Given the description of an element on the screen output the (x, y) to click on. 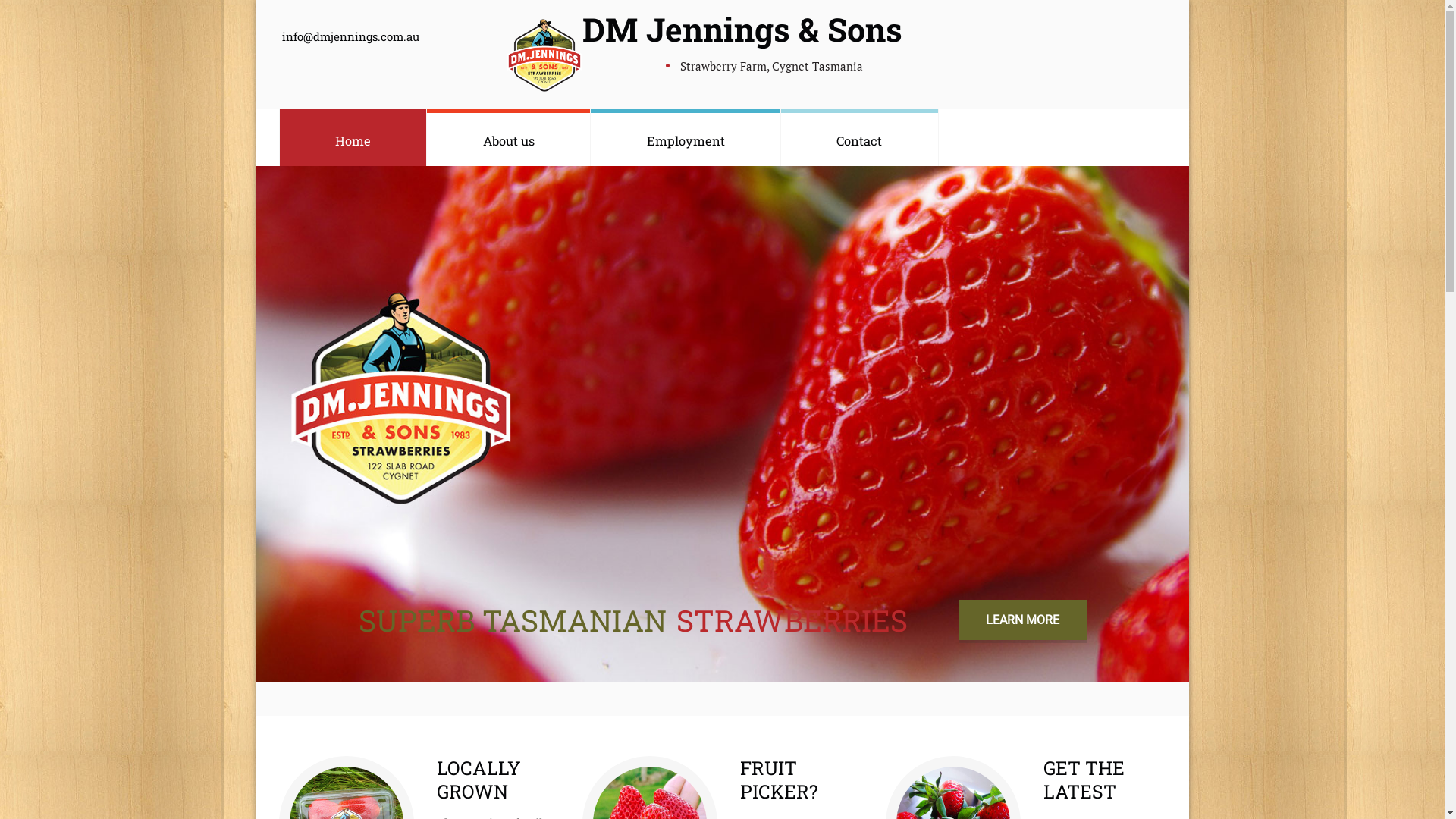
Contact Element type: text (859, 137)
DM Jennings & Sons
Strawberry Farm, Cygnet Tasmania Element type: text (722, 51)
Home Element type: text (352, 137)
Employment Element type: text (685, 137)
LEARN MORE Element type: text (1022, 619)
About us Element type: text (507, 137)
